Given the description of an element on the screen output the (x, y) to click on. 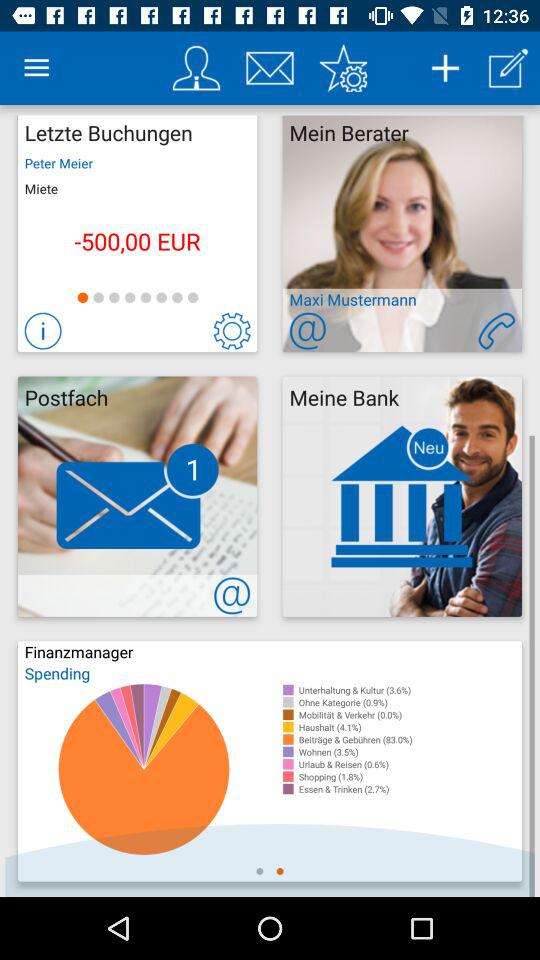
open settings (343, 67)
